Given the description of an element on the screen output the (x, y) to click on. 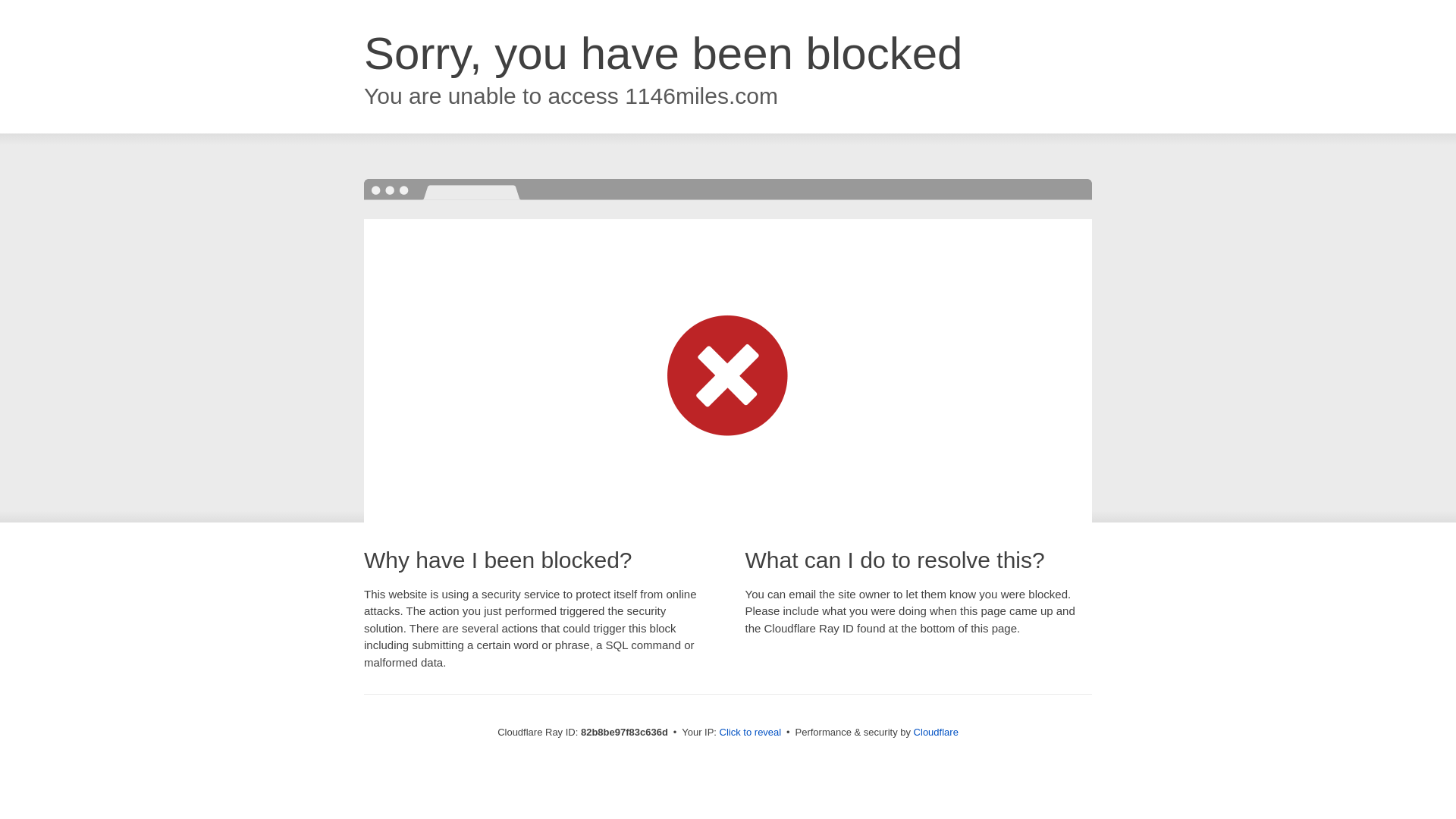
Click to reveal Element type: text (750, 732)
Cloudflare Element type: text (935, 731)
